Given the description of an element on the screen output the (x, y) to click on. 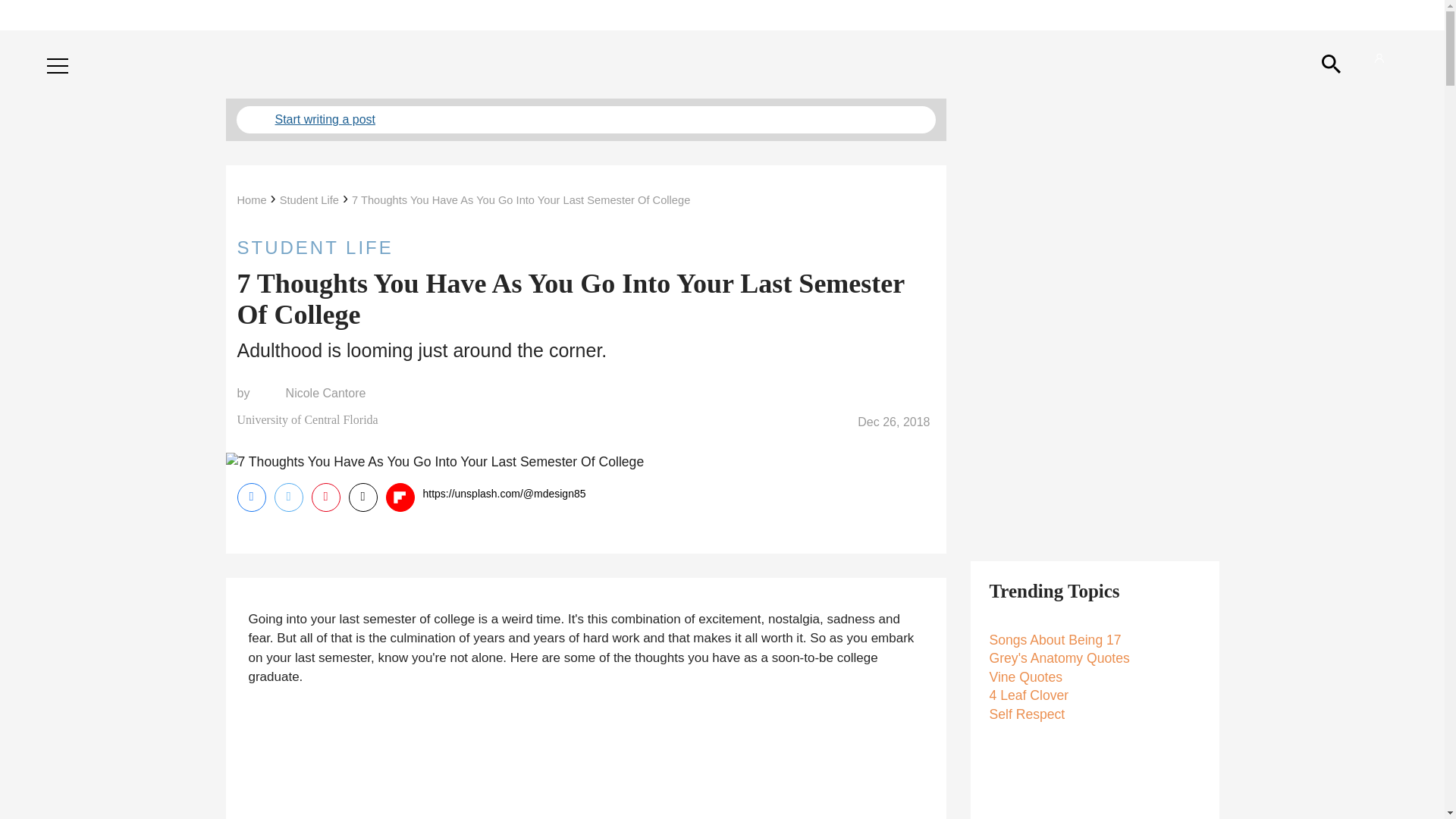
Start writing a post (585, 119)
Home (250, 200)
Nicole Cantore (325, 393)
STUDENT LIFE (584, 248)
Student Life (309, 200)
